Given the description of an element on the screen output the (x, y) to click on. 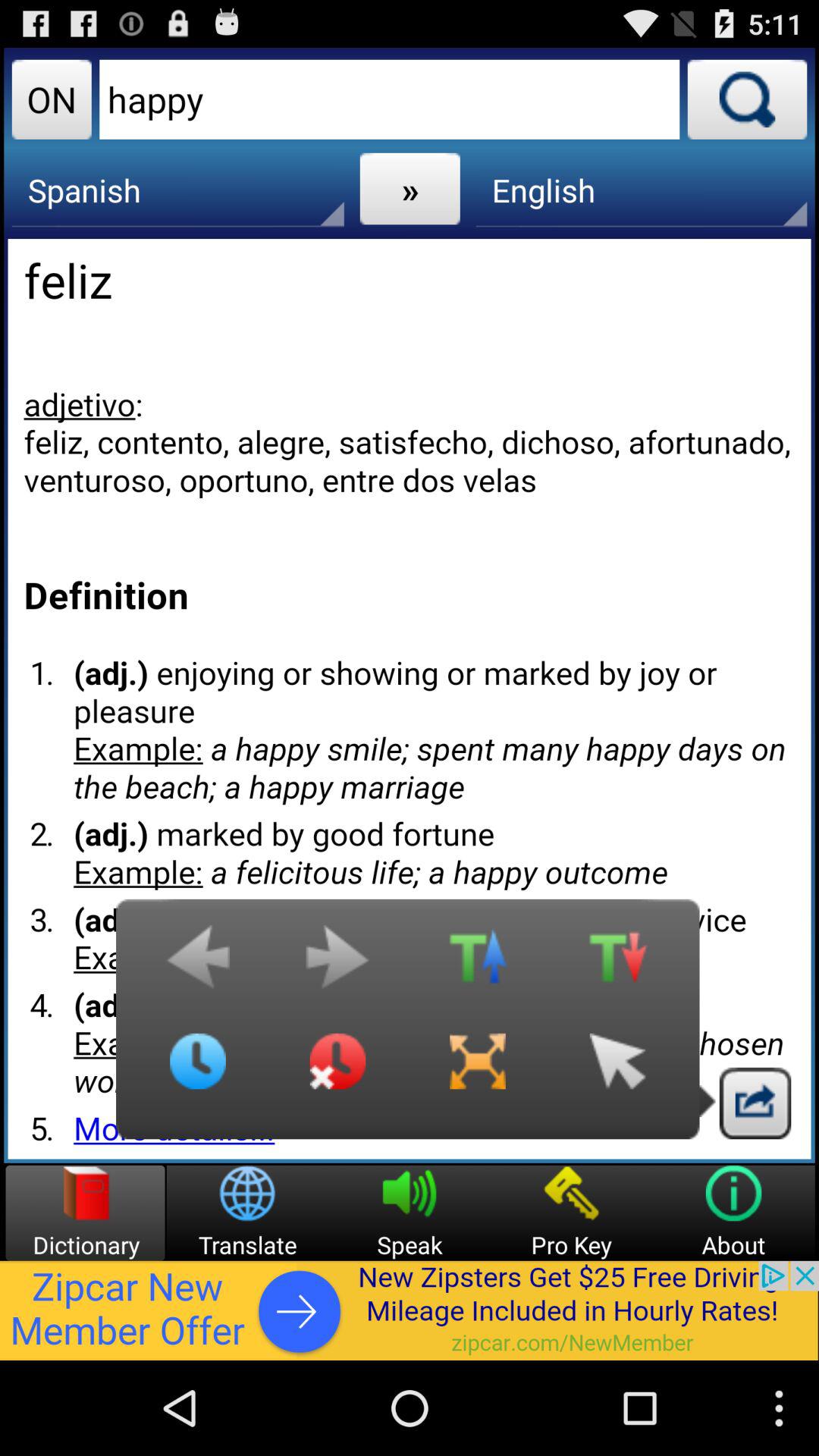
to move next (337, 964)
